Given the description of an element on the screen output the (x, y) to click on. 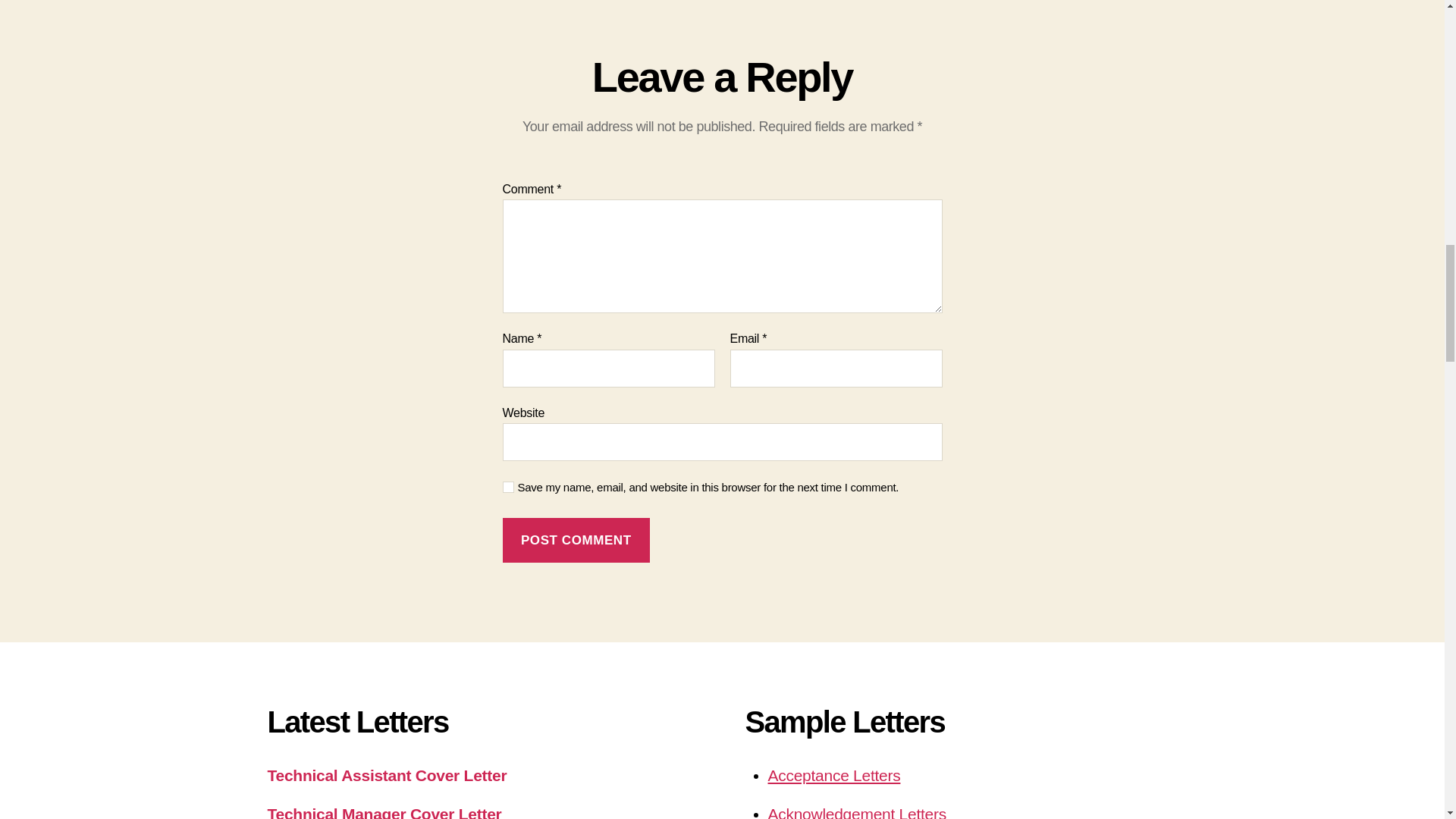
Technical Manager Cover Letter (383, 812)
Technical Assistant Cover Letter (386, 774)
Post Comment (575, 539)
Post Comment (575, 539)
Acceptance Letters (833, 774)
yes (507, 487)
Acknowledgement Letters (855, 812)
